Given the description of an element on the screen output the (x, y) to click on. 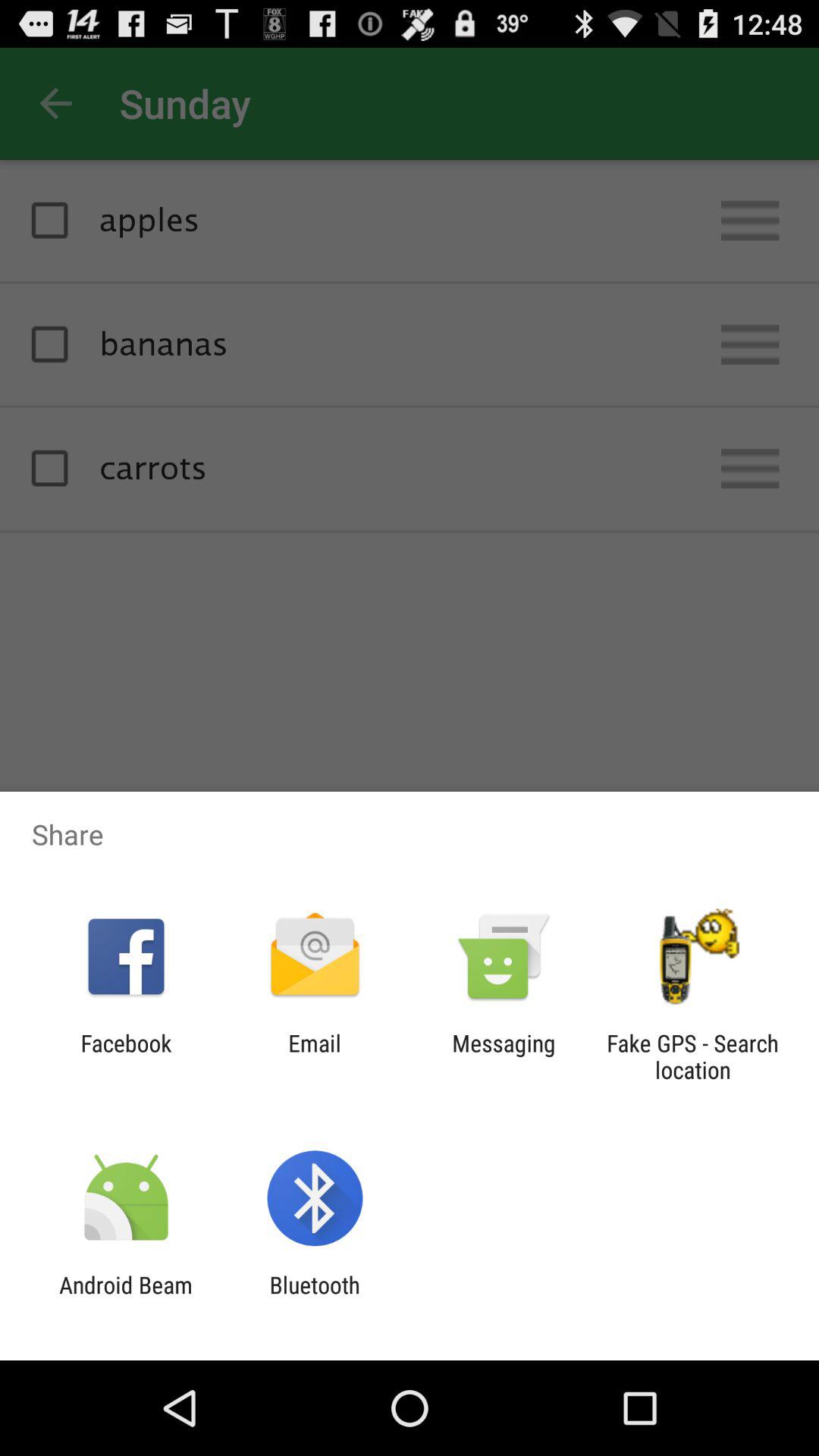
choose the icon at the bottom right corner (692, 1056)
